Given the description of an element on the screen output the (x, y) to click on. 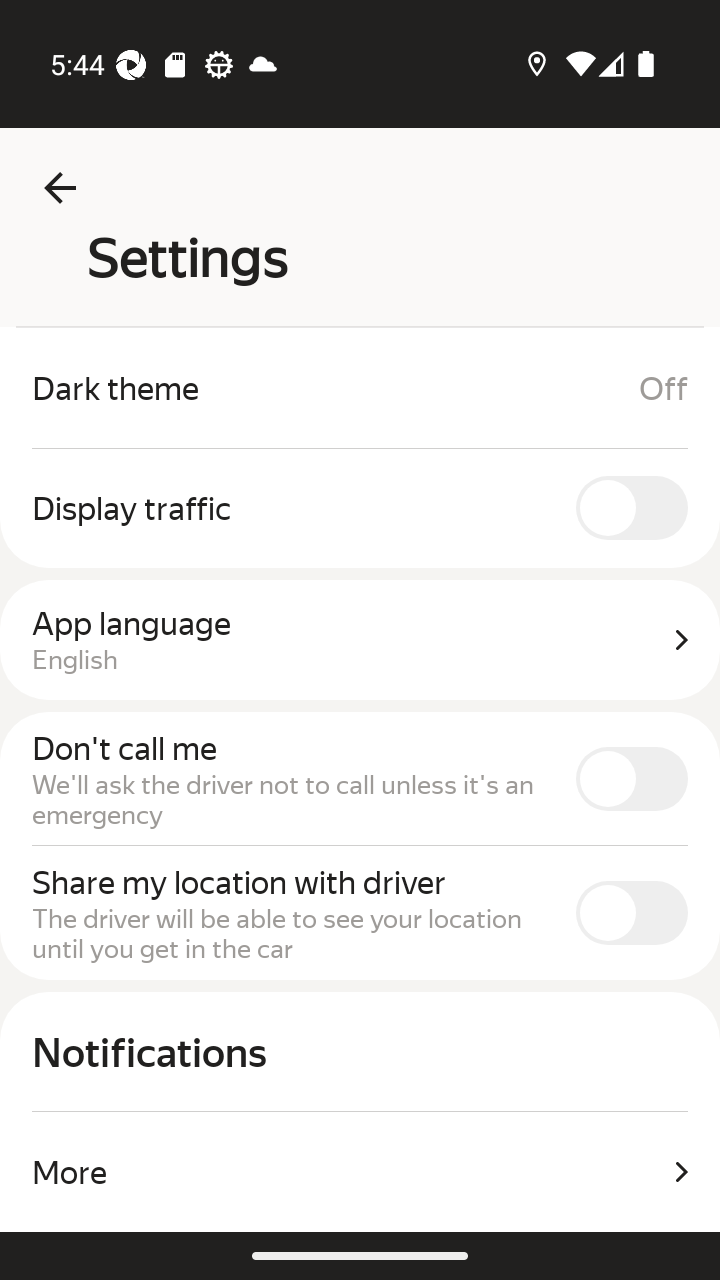
Back (60, 188)
Dark theme Dark theme Off Off (360, 387)
Display traffic (360, 508)
App language, English App language English (360, 639)
More (360, 1171)
